Given the description of an element on the screen output the (x, y) to click on. 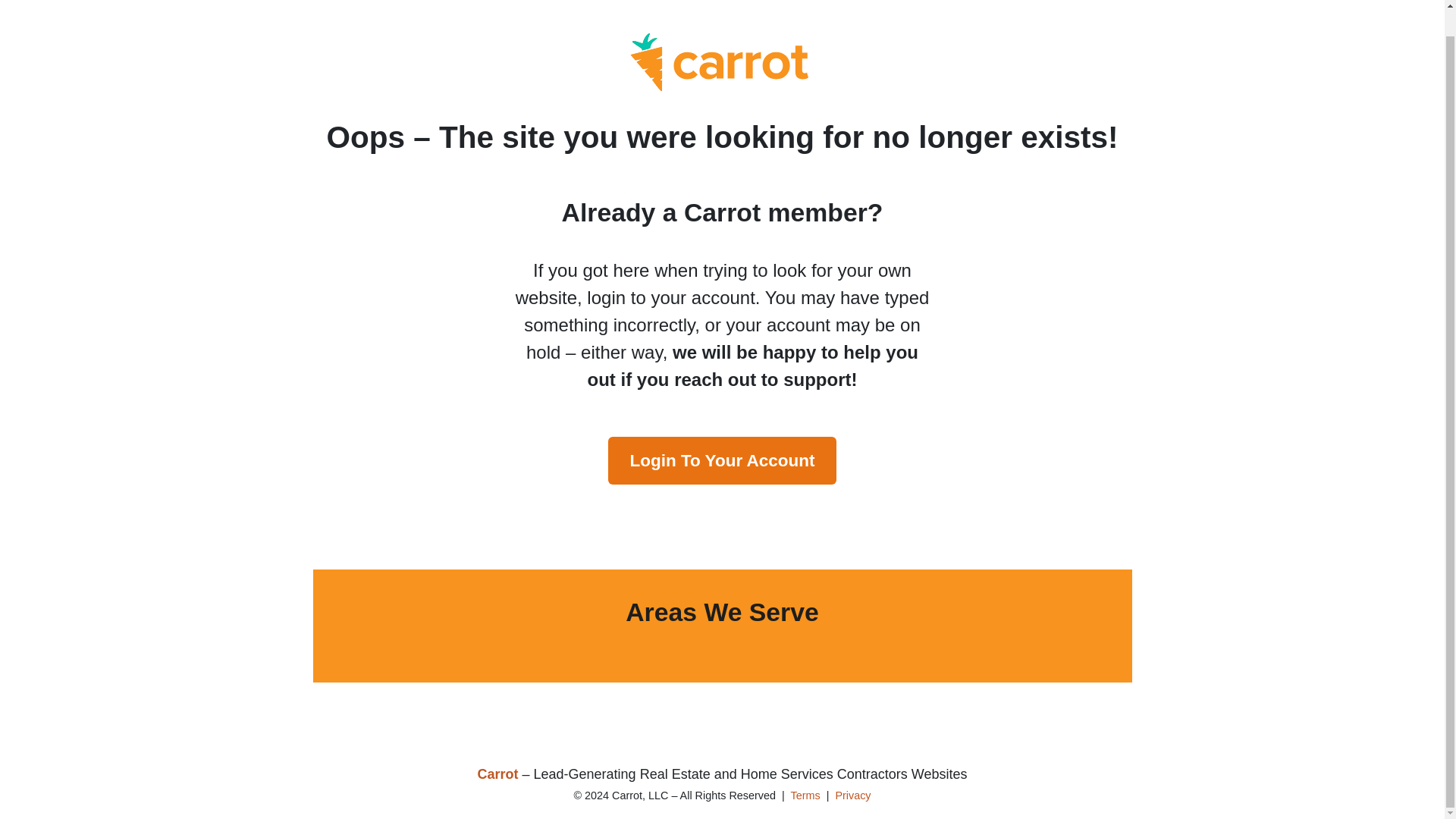
Login To Your Account (721, 460)
Carrot (497, 774)
Privacy (852, 795)
Terms (804, 795)
